Given the description of an element on the screen output the (x, y) to click on. 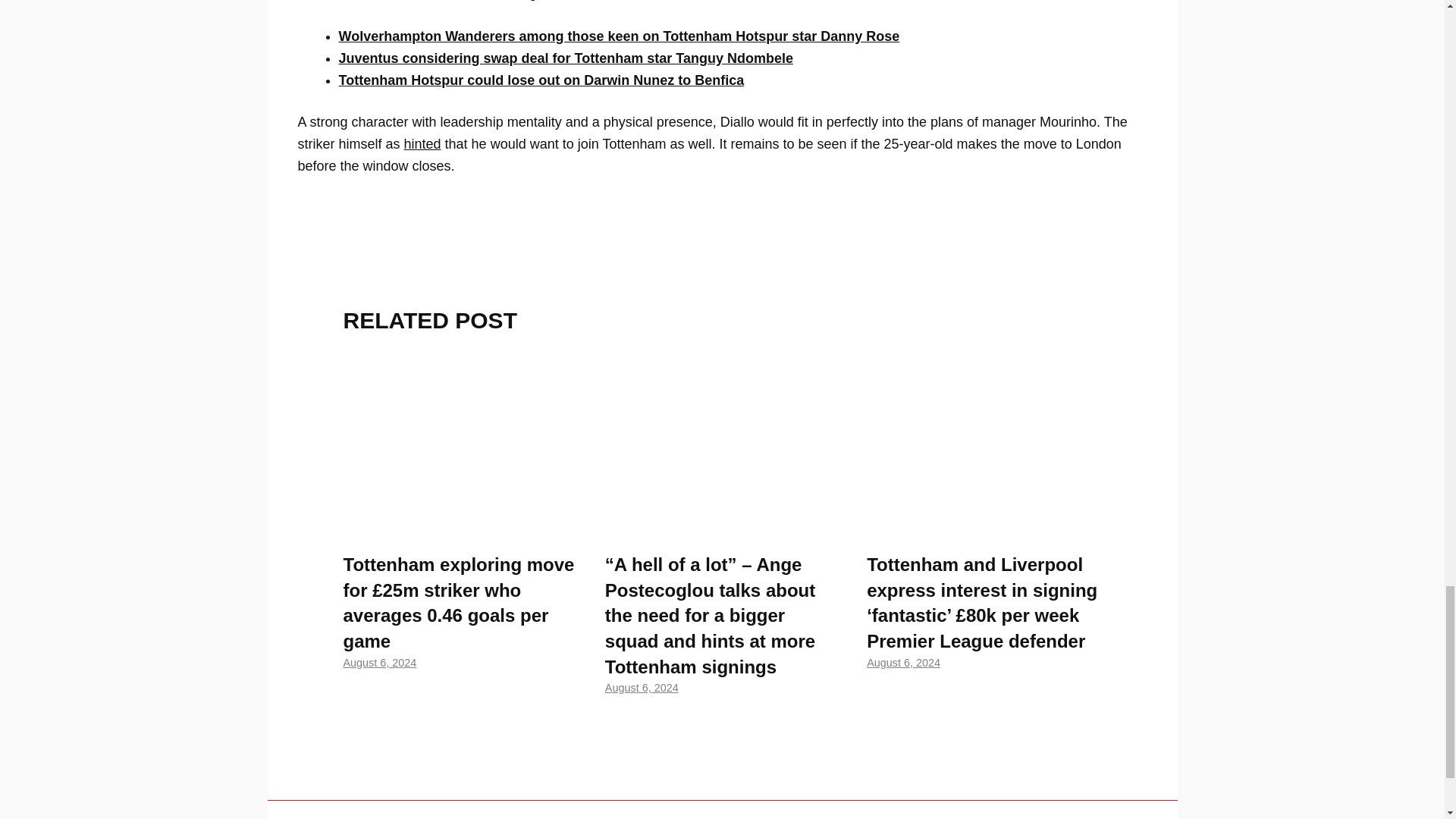
12:30 pm (903, 662)
2:30 pm (379, 662)
1:30 pm (641, 687)
